Given the description of an element on the screen output the (x, y) to click on. 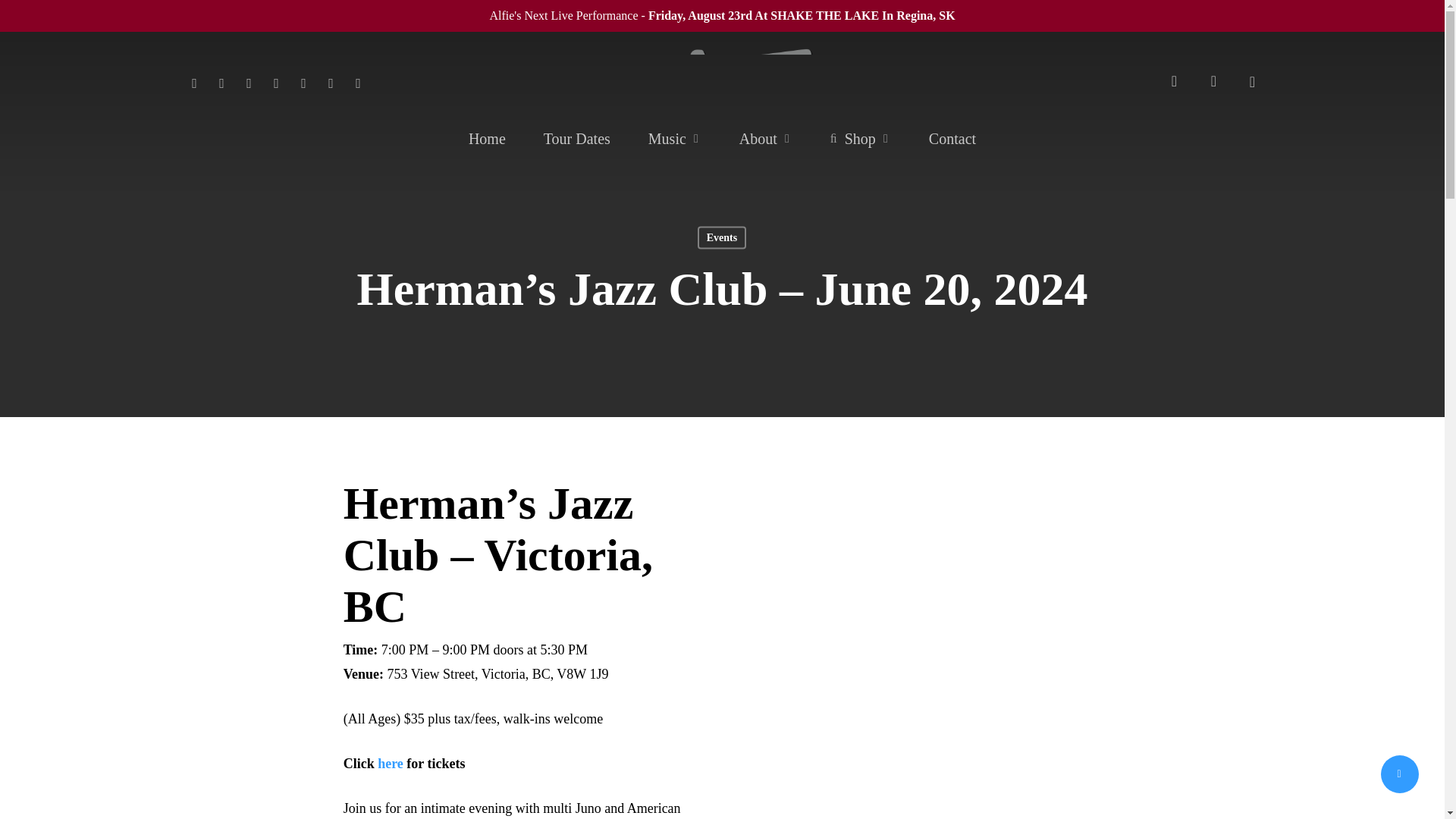
About (765, 138)
search (1173, 81)
Music (674, 138)
Home (486, 138)
Facebook (221, 81)
Youtube (248, 81)
Twitter (194, 81)
Contact (952, 138)
Spotify (303, 81)
Email (357, 81)
Phone (330, 81)
account (1213, 81)
Events (721, 237)
Instagram (275, 81)
